Given the description of an element on the screen output the (x, y) to click on. 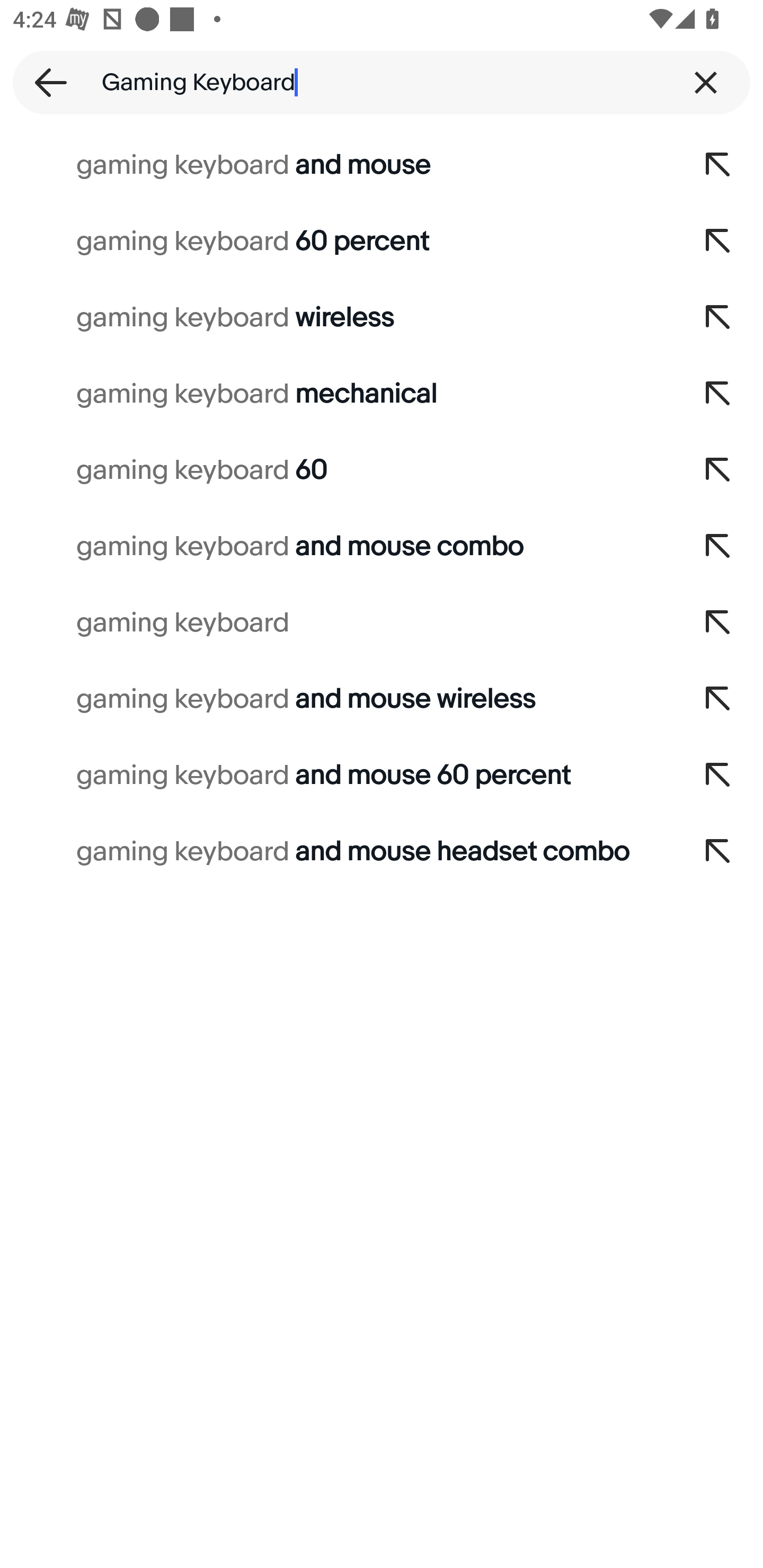
Back (44, 82)
Clear query (705, 82)
Gaming Keyboard (381, 82)
gaming keyboard and mouse (336, 165)
Add to search query,gaming keyboard and mouse (718, 165)
gaming keyboard 60 percent (336, 241)
Add to search query,gaming keyboard 60 percent (718, 241)
gaming keyboard wireless (336, 317)
Add to search query,gaming keyboard wireless (718, 317)
gaming keyboard mechanical (336, 393)
Add to search query,gaming keyboard mechanical (718, 393)
gaming keyboard 60 (336, 470)
Add to search query,gaming keyboard 60 (718, 470)
gaming keyboard and mouse combo (336, 546)
gaming keyboard (336, 622)
Add to search query,gaming keyboard (718, 622)
gaming keyboard and mouse wireless (336, 698)
gaming keyboard and mouse 60 percent (336, 774)
gaming keyboard and mouse headset combo (336, 851)
